Given the description of an element on the screen output the (x, y) to click on. 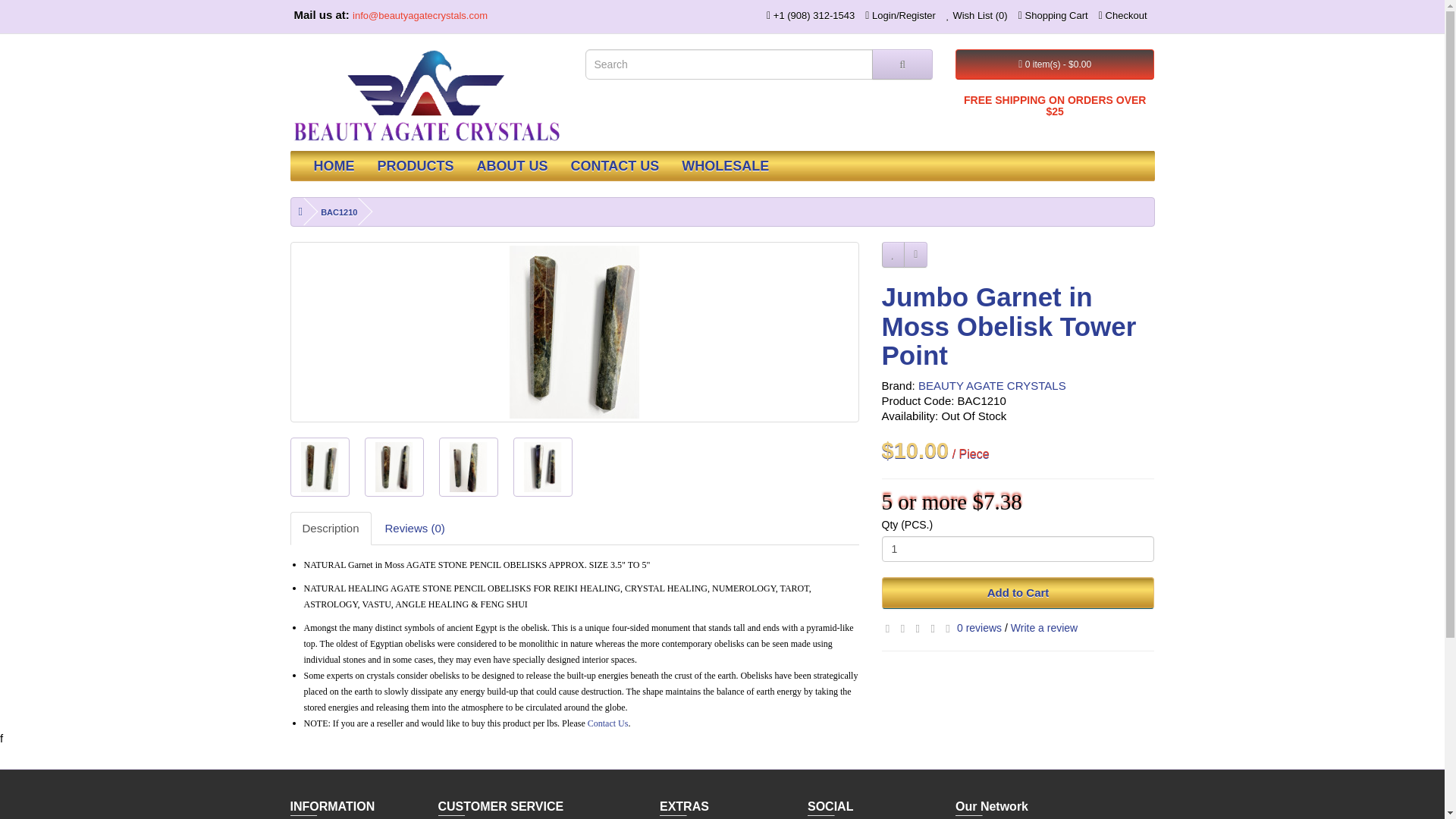
Jumbo Garnet in Moss Obelisk Tower Point (467, 467)
Beauty Agate Crystals (425, 95)
Jumbo Garnet in Moss Obelisk Tower Point (318, 467)
Shopping Cart (1052, 15)
Jumbo Garnet in Moss Obelisk Tower Point (467, 466)
Checkout (1123, 15)
Jumbo Garnet in Moss Obelisk Tower Point (319, 466)
CONTACT US (615, 165)
Jumbo Garnet in Moss Obelisk Tower Point (541, 467)
Shopping Cart (1052, 15)
